Given the description of an element on the screen output the (x, y) to click on. 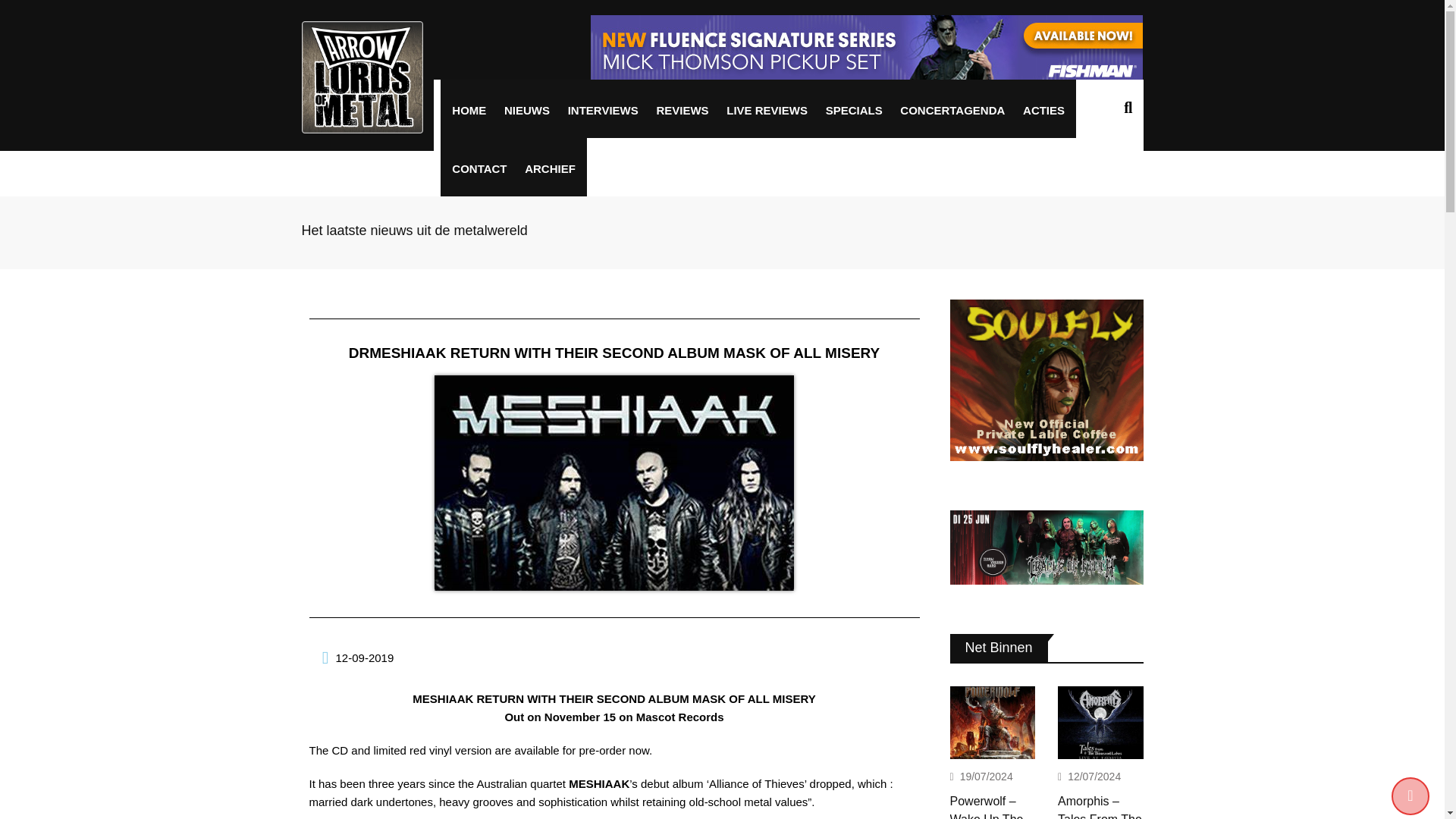
ACTIES (1043, 110)
CONTACT (479, 168)
NIEUWS (526, 110)
Het laatste nieuws uit de metalwereld (414, 230)
REVIEWS (682, 110)
SPECIALS (853, 110)
CONCERTAGENDA (952, 110)
ARCHIEF (549, 168)
HOME (469, 110)
LIVE REVIEWS (766, 110)
INTERVIEWS (602, 110)
